Given the description of an element on the screen output the (x, y) to click on. 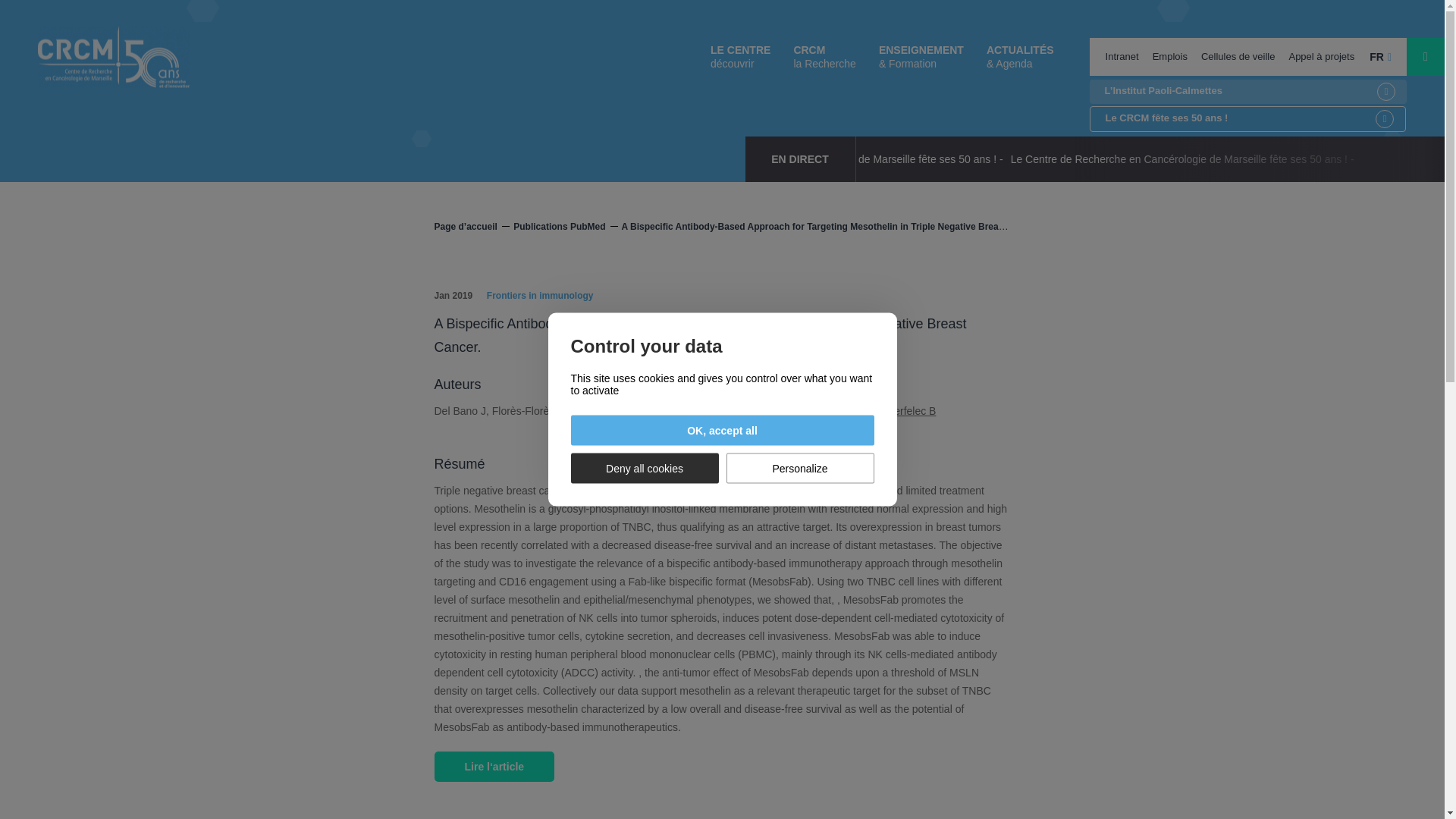
Goubard A (651, 410)
Cellules de veille (1237, 56)
Intranet (1122, 56)
Publications PubMed (565, 226)
Langue du site (1380, 56)
Emplois (1169, 56)
FR (1380, 56)
Josselin E (595, 410)
Castellano R (759, 410)
